Given the description of an element on the screen output the (x, y) to click on. 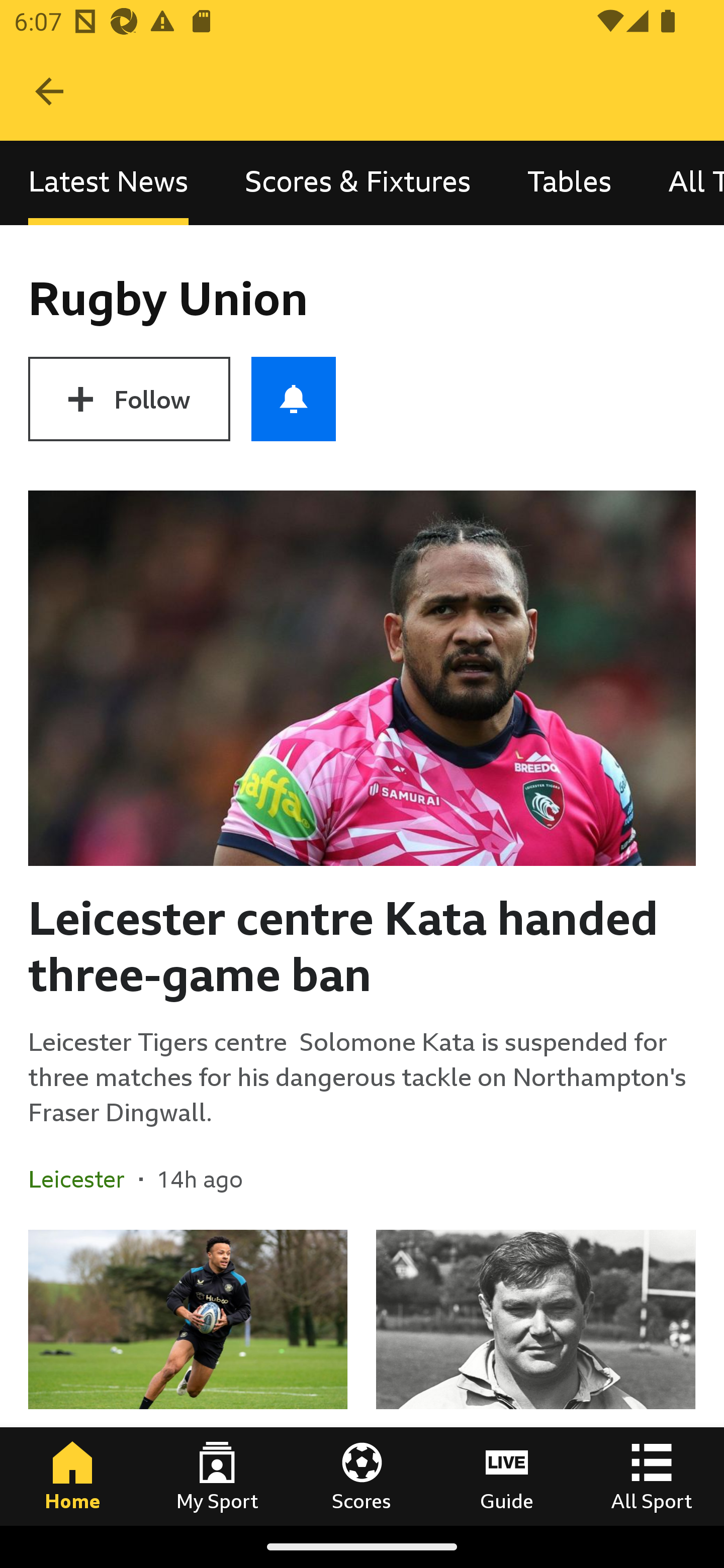
Navigate up (49, 91)
Latest News, selected Latest News (108, 183)
Scores & Fixtures (357, 183)
Tables (569, 183)
Follow Rugby Union Follow (129, 398)
Push notifications for Rugby Union (293, 398)
Leicester In the section Leicester (83, 1178)
Bath sign ex-St Helens wing Grace for 2024-25 (188, 1377)
My Sport (216, 1475)
Scores (361, 1475)
Guide (506, 1475)
All Sport (651, 1475)
